Given the description of an element on the screen output the (x, y) to click on. 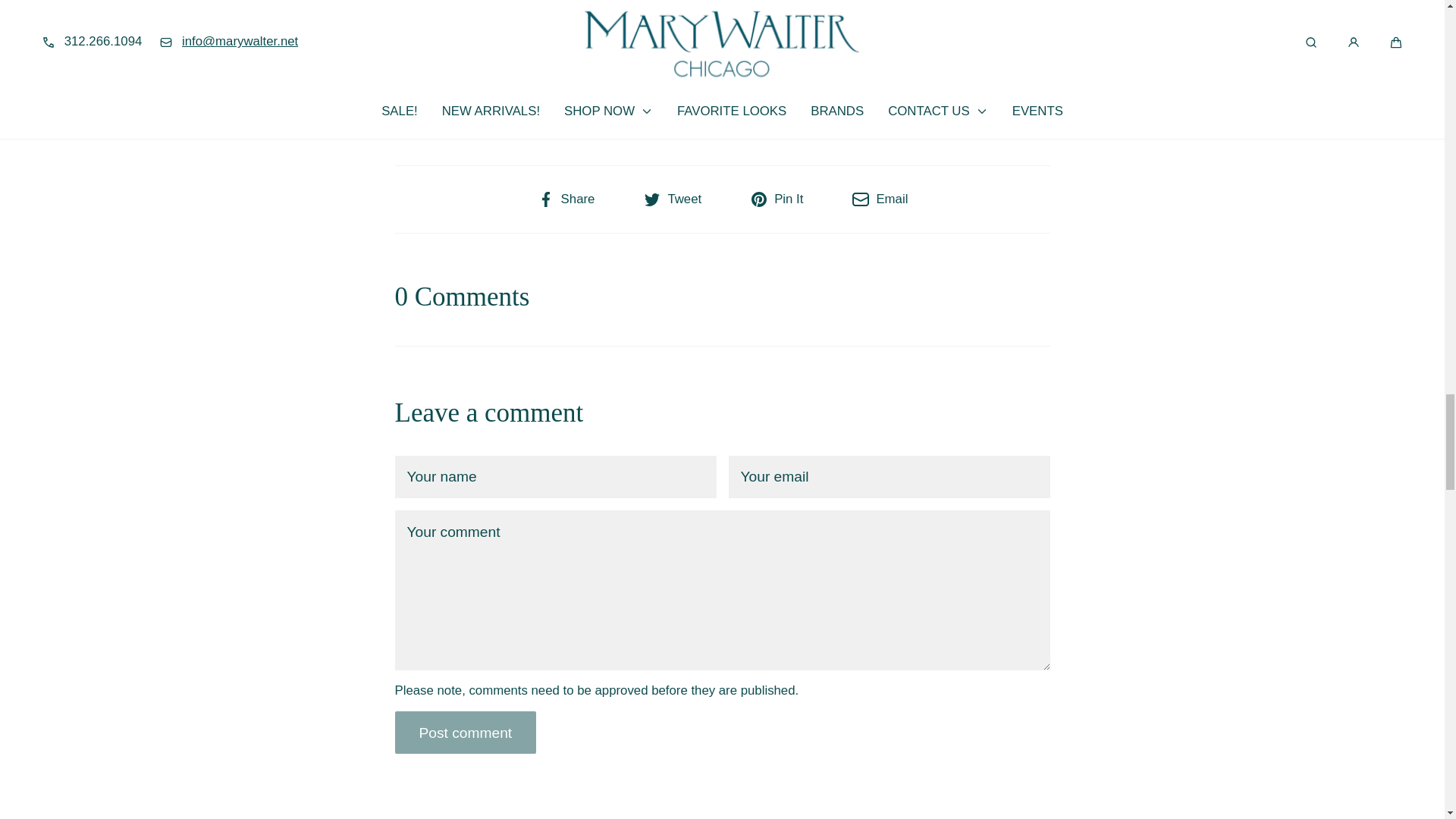
Share on Facebook (566, 199)
Share with Email (879, 199)
Share on Twitter (672, 199)
Share on Pinterest (776, 199)
